Given the description of an element on the screen output the (x, y) to click on. 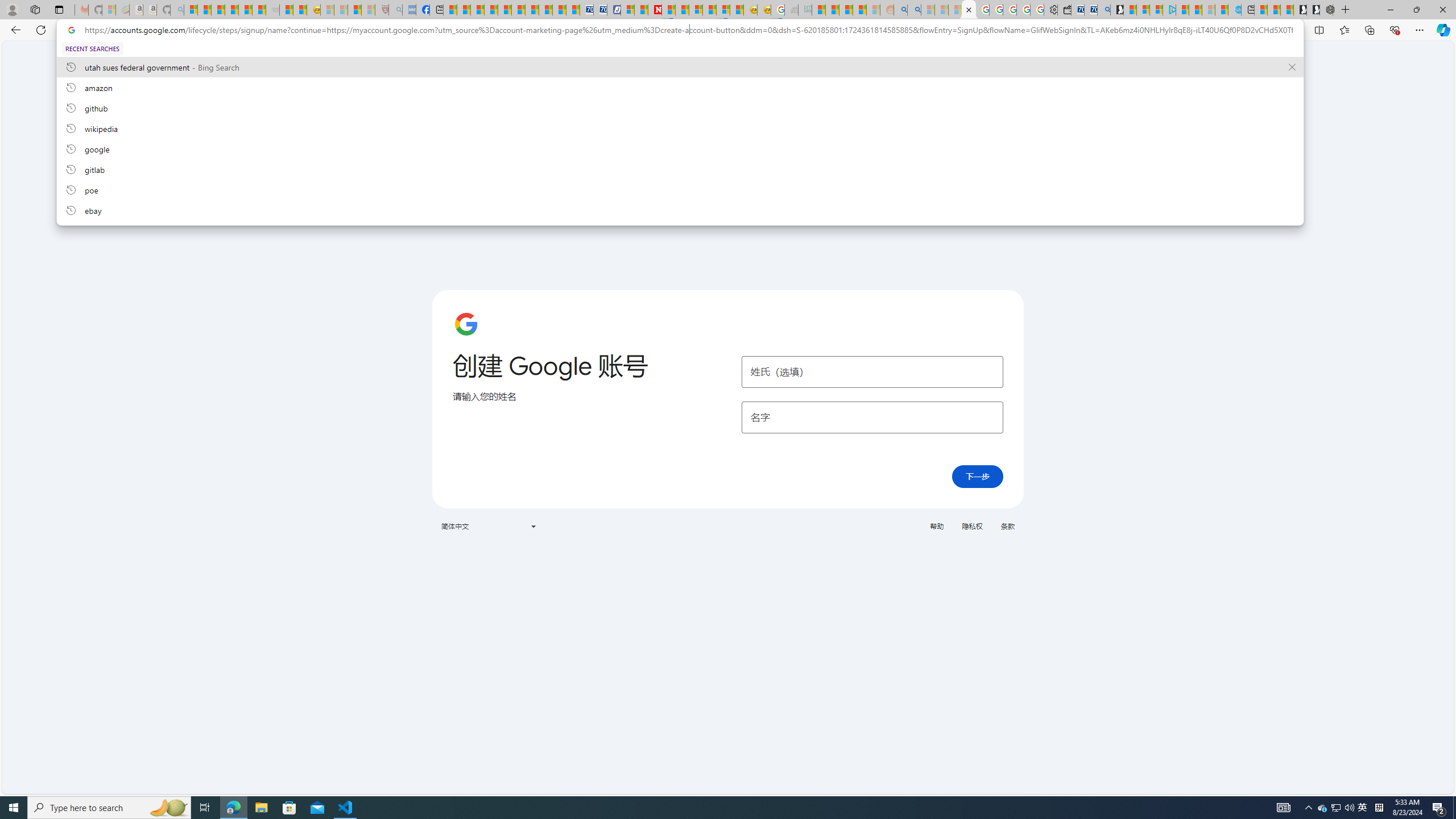
Class: VfPpkd-t08AT-Bz112c-Bd00G (532, 526)
New Report Confirms 2023 Was Record Hot | Watch (245, 9)
DITOGAMES AG Imprint - Sleeping (804, 9)
Combat Siege - Sleeping (271, 9)
Play Free Online Games | Games from Microsoft Start (1312, 9)
